Given the description of an element on the screen output the (x, y) to click on. 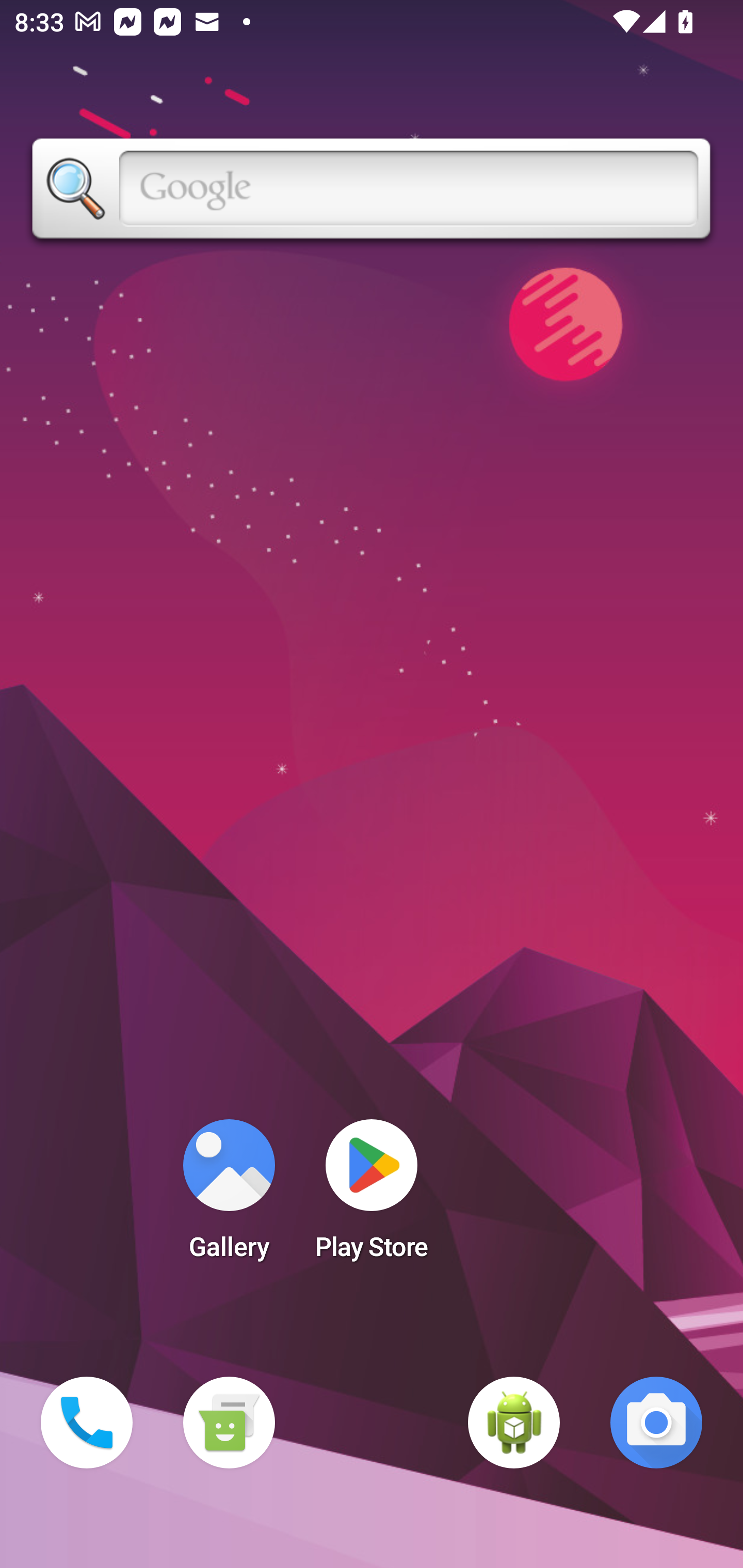
Gallery (228, 1195)
Play Store (371, 1195)
Phone (86, 1422)
Messaging (228, 1422)
WebView Browser Tester (513, 1422)
Camera (656, 1422)
